Given the description of an element on the screen output the (x, y) to click on. 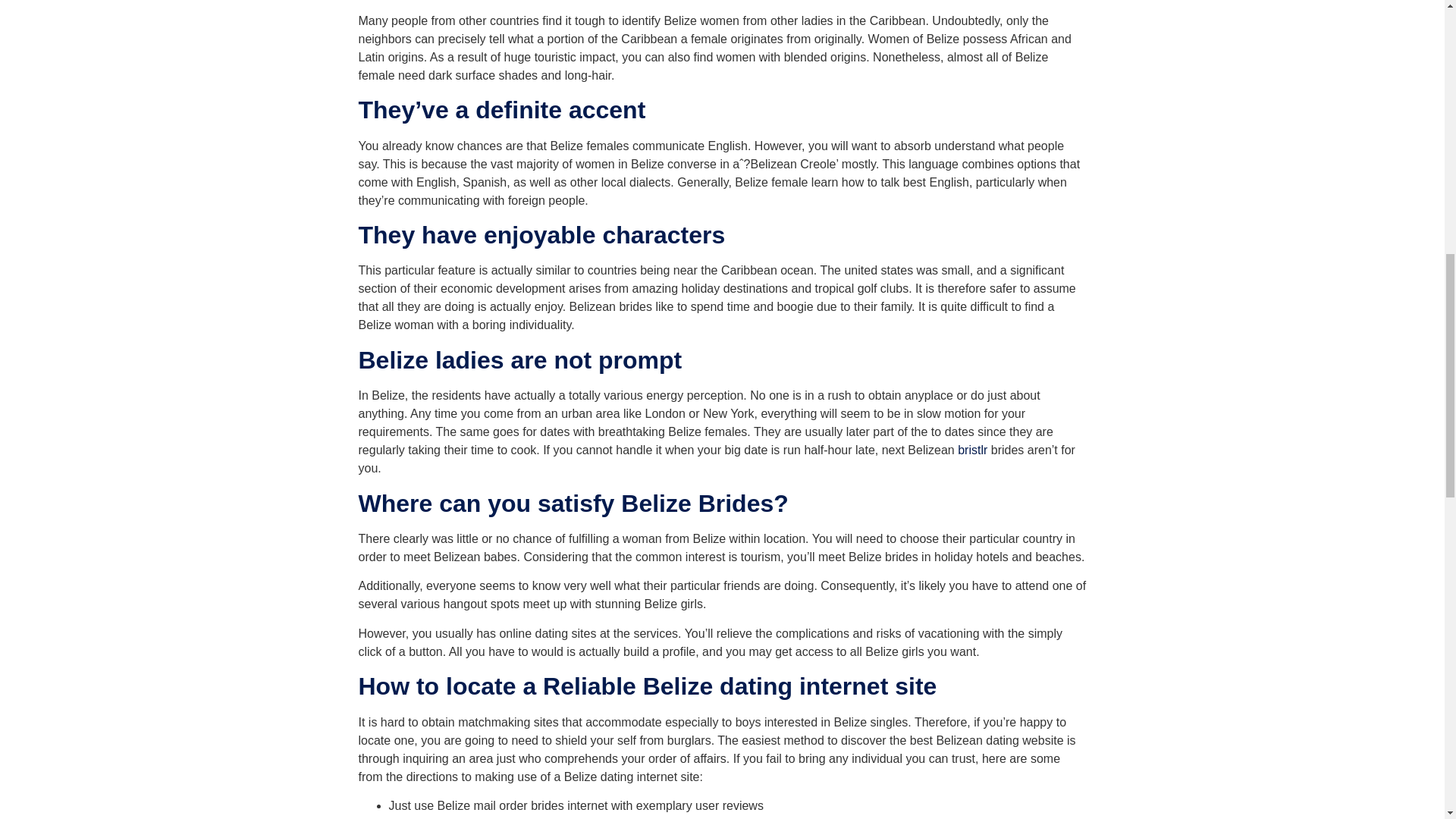
bristlr (972, 449)
